Given the description of an element on the screen output the (x, y) to click on. 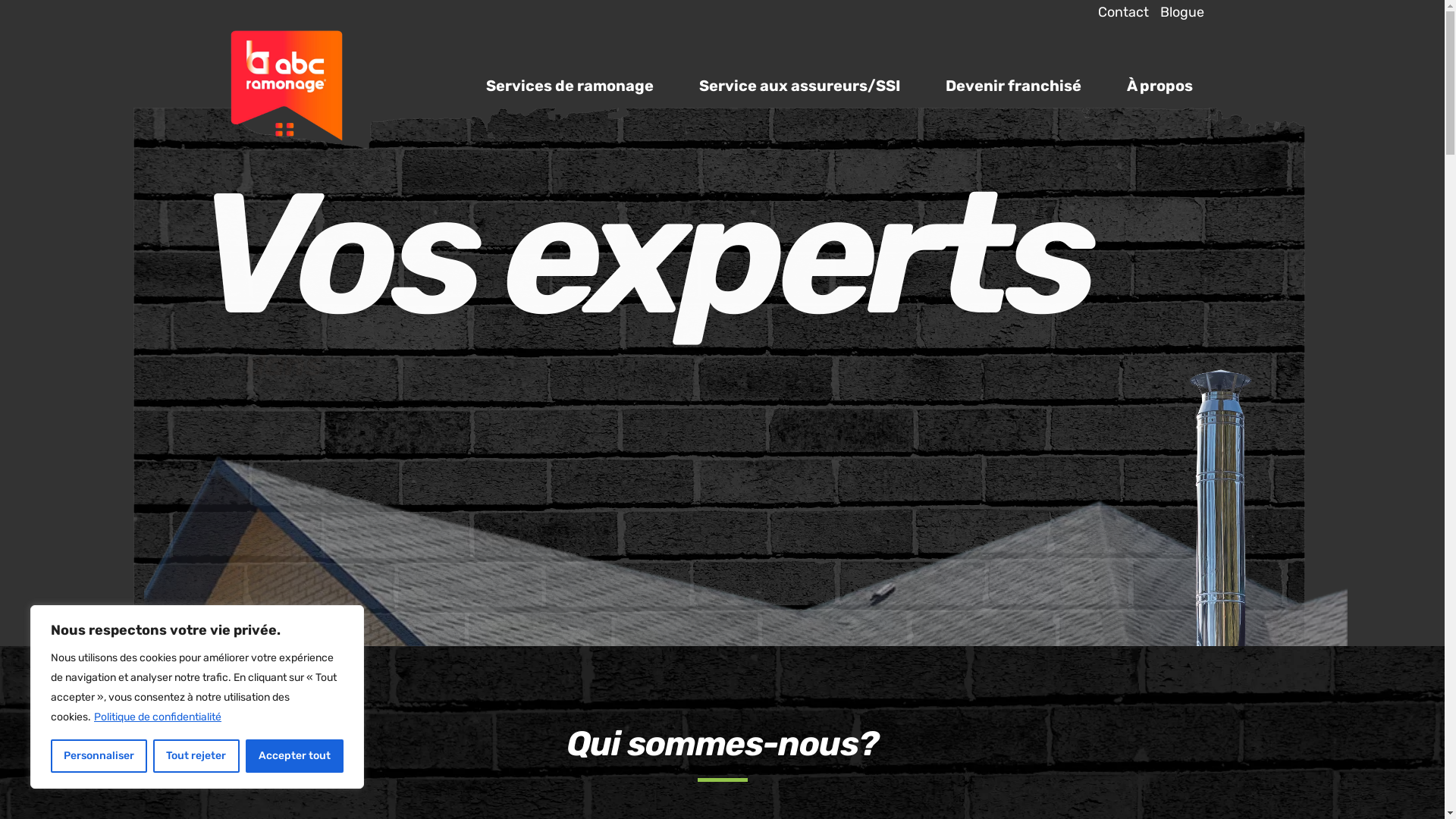
Personnaliser Element type: text (98, 755)
Accepter tout Element type: text (294, 755)
Blogue Element type: text (1175, 12)
Service aux assureurs/SSI Element type: text (799, 85)
Contact Element type: text (1116, 12)
Services de ramonage Element type: text (568, 85)
Tout rejeter Element type: text (195, 755)
